Given the description of an element on the screen output the (x, y) to click on. 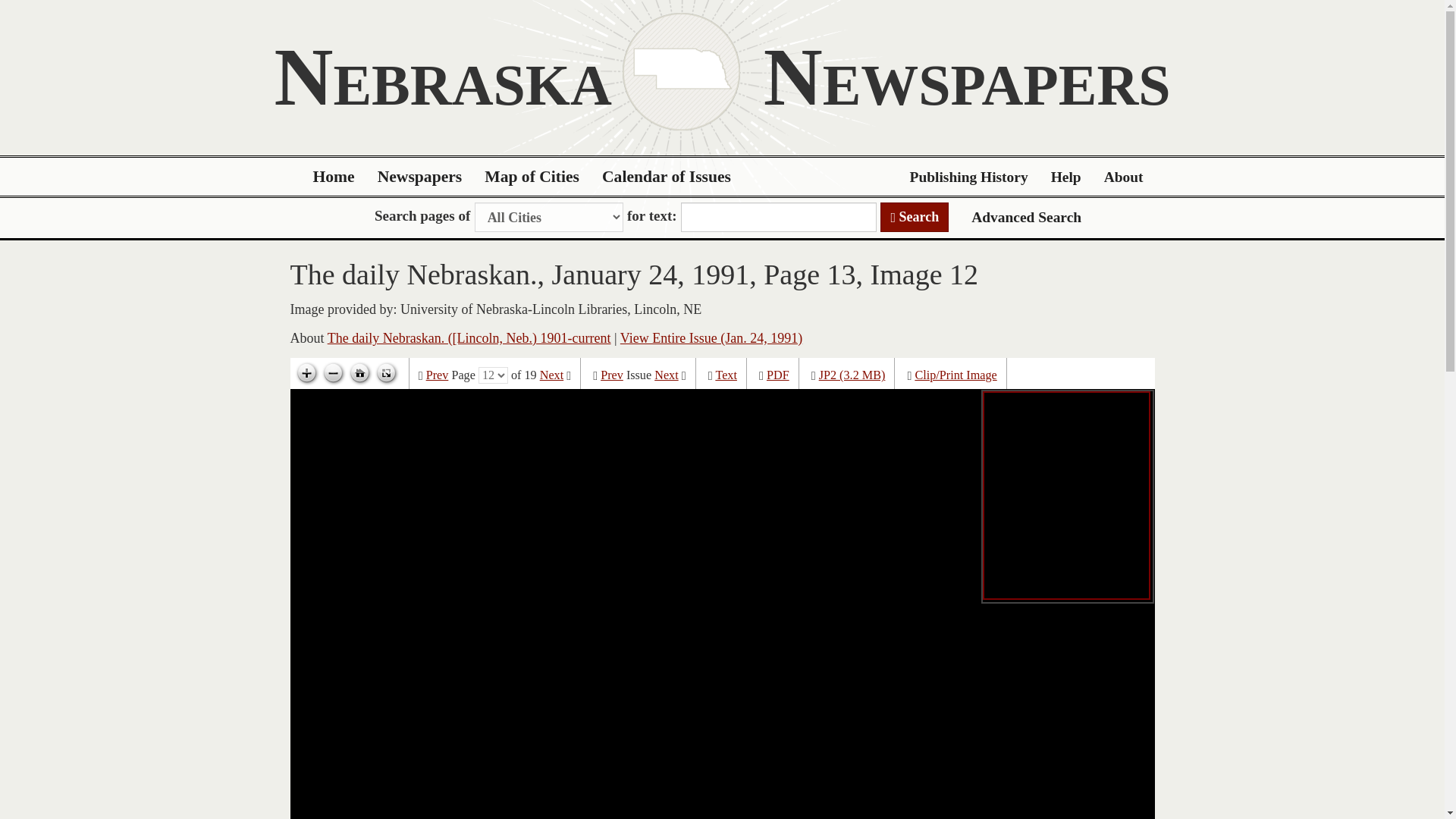
Zoom out (333, 373)
Search (914, 217)
Home (333, 176)
Next (551, 375)
Prev (611, 375)
Zoom in (307, 373)
Text (725, 375)
Advanced Search (1026, 216)
Publishing History (968, 176)
Newspapers (420, 176)
Toggle full page (385, 373)
Go home (359, 373)
Calendar of Issues (666, 176)
Prev (437, 375)
About (1123, 176)
